Given the description of an element on the screen output the (x, y) to click on. 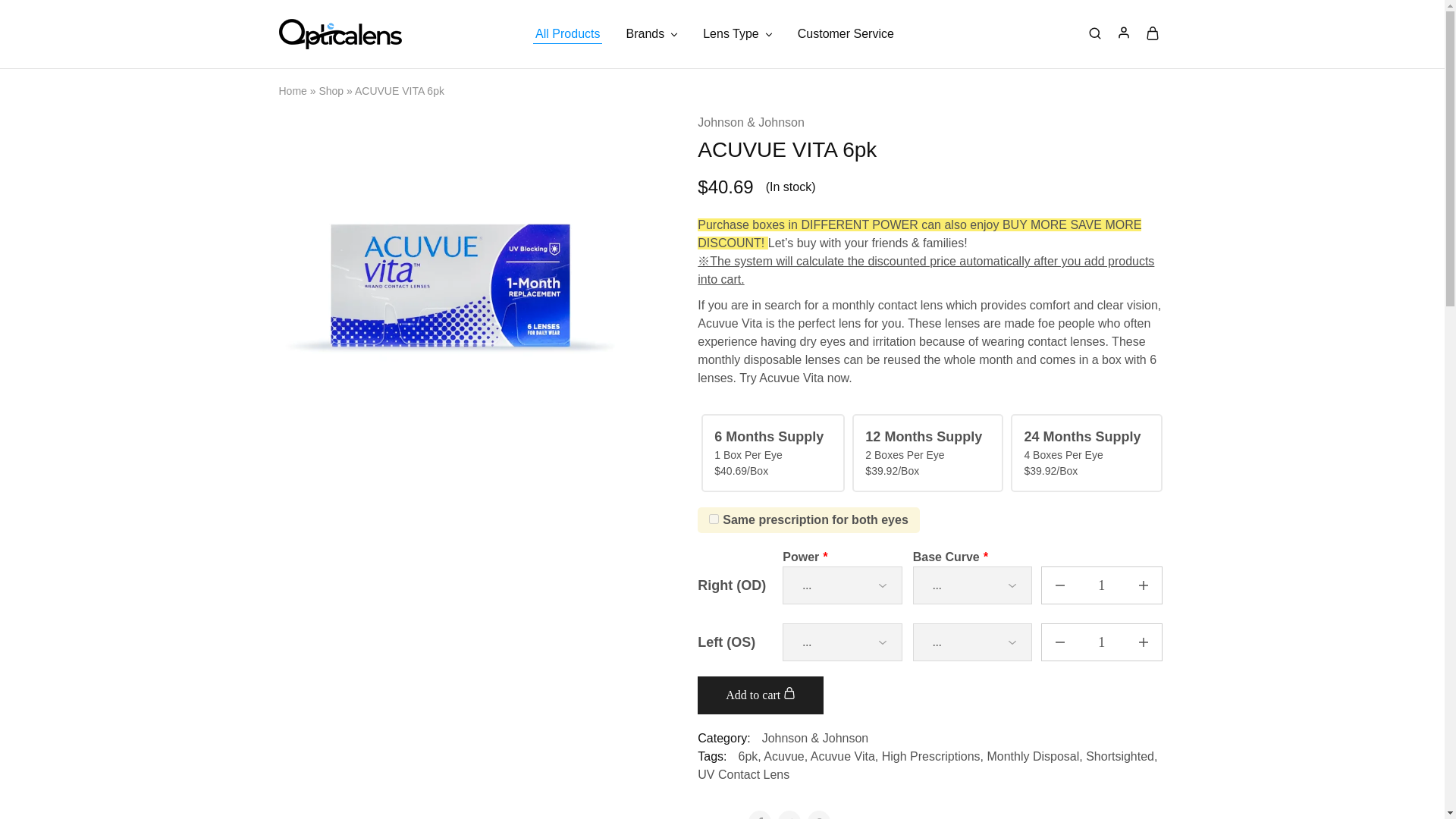
Lens Type (737, 33)
Add to cart (760, 695)
Acuvue (782, 756)
Monthly Disposal (1032, 756)
Qty (1101, 585)
Shortsighted (1120, 756)
1 (1101, 642)
Customer Service (845, 33)
1 (1101, 585)
Shop (330, 91)
